Given the description of an element on the screen output the (x, y) to click on. 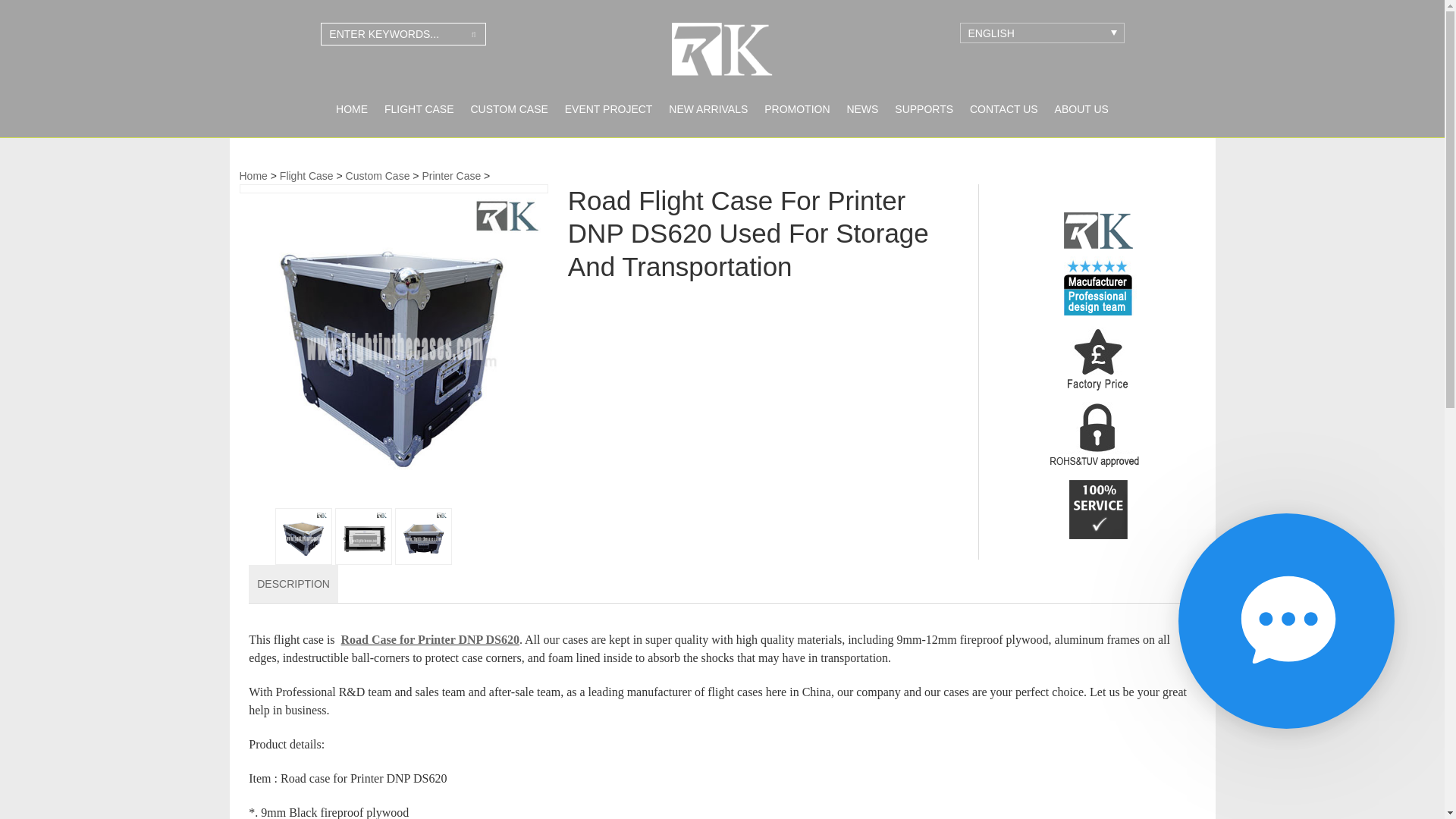
FLIGHT CASE (419, 110)
HOME (352, 110)
Enter keywords... (403, 33)
ENGLISH (1041, 32)
SEARCH (473, 33)
